Given the description of an element on the screen output the (x, y) to click on. 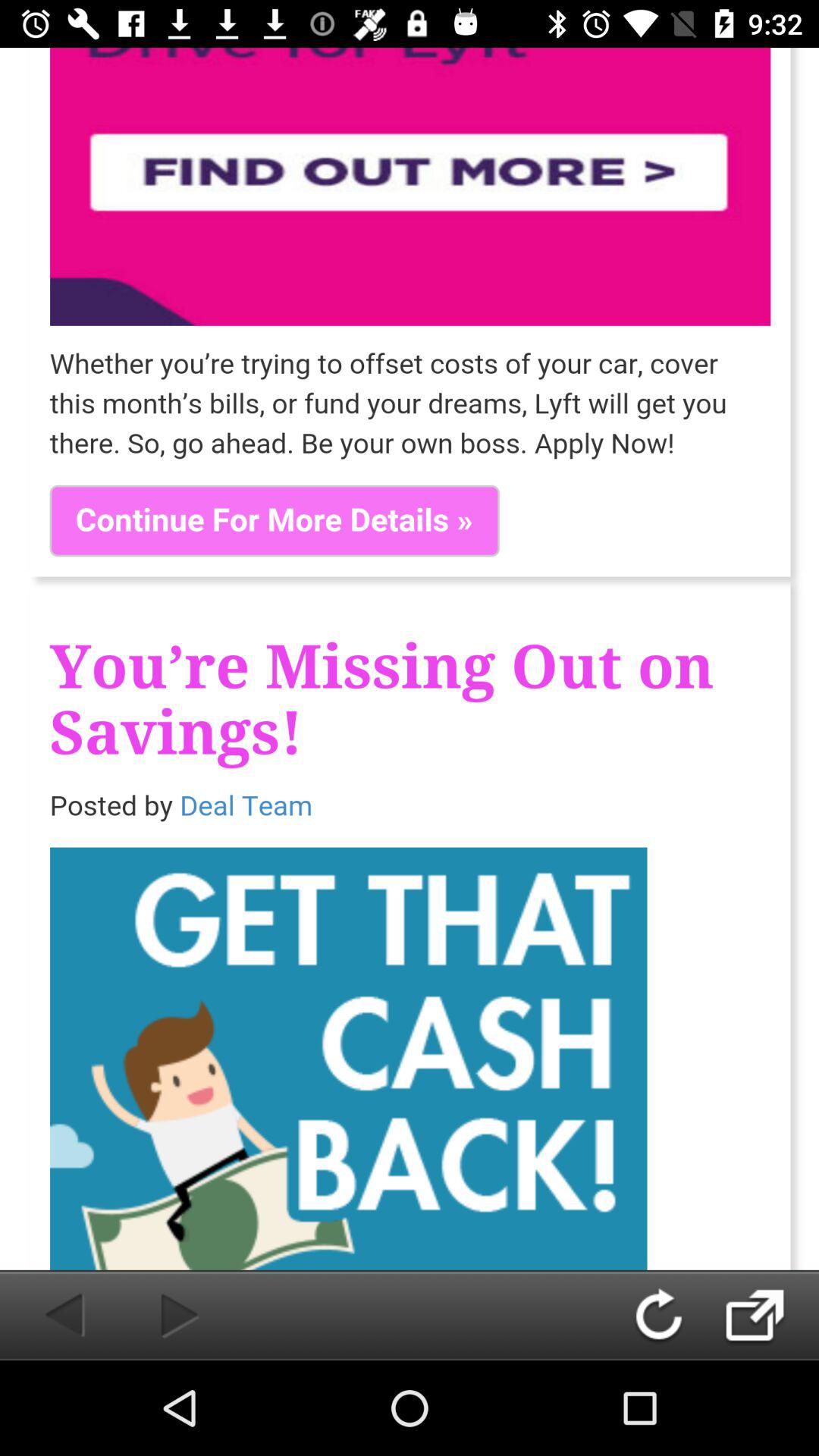
reload page (673, 1315)
